Given the description of an element on the screen output the (x, y) to click on. 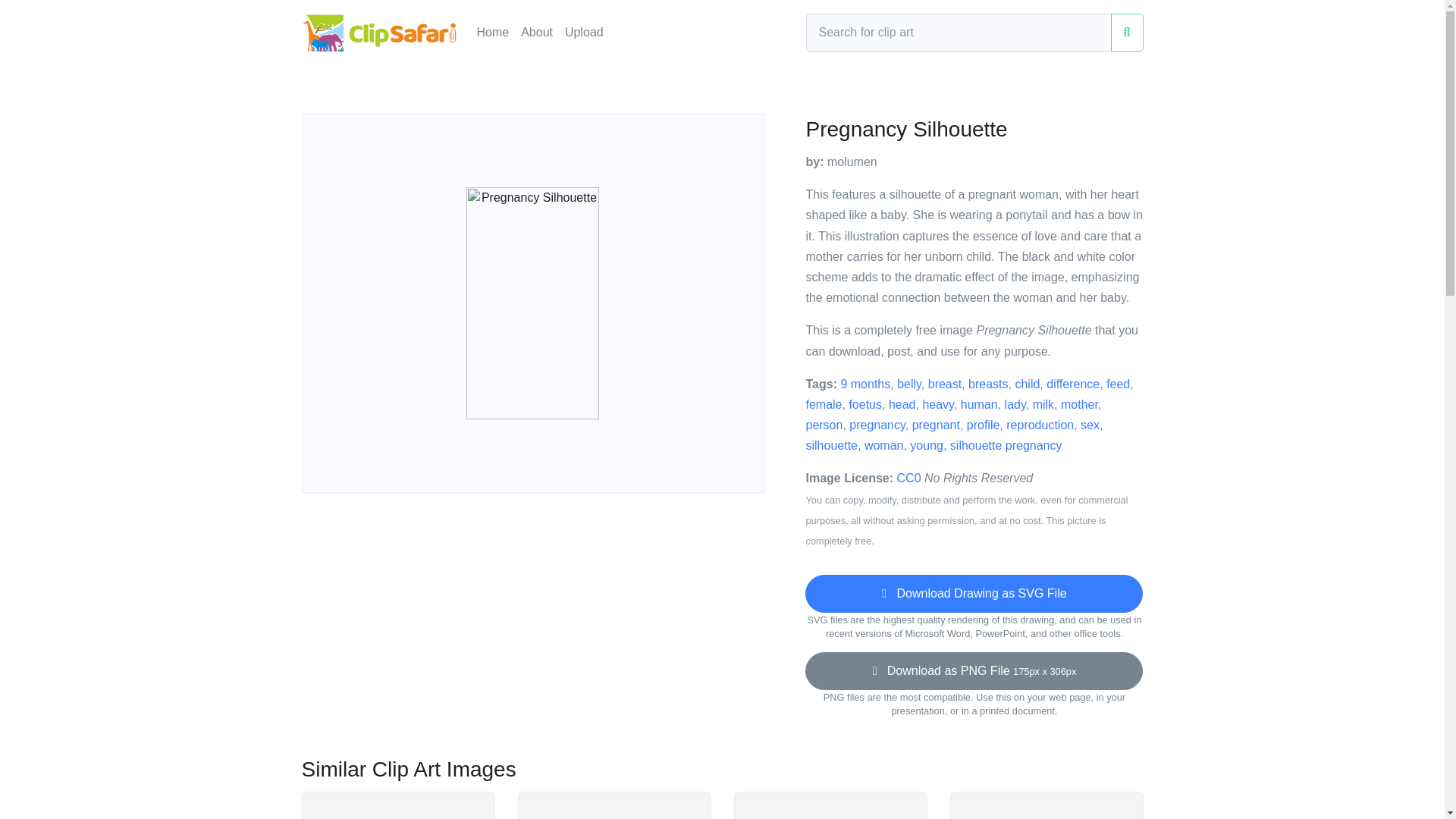
Home (492, 32)
9 months (864, 383)
breasts (987, 383)
belly (908, 383)
foetus (865, 404)
female (823, 404)
lady (1015, 404)
pregnancy (876, 424)
  Download as PNG File 175px x 306px (973, 670)
silhouette pregnancy (1006, 445)
